Given the description of an element on the screen output the (x, y) to click on. 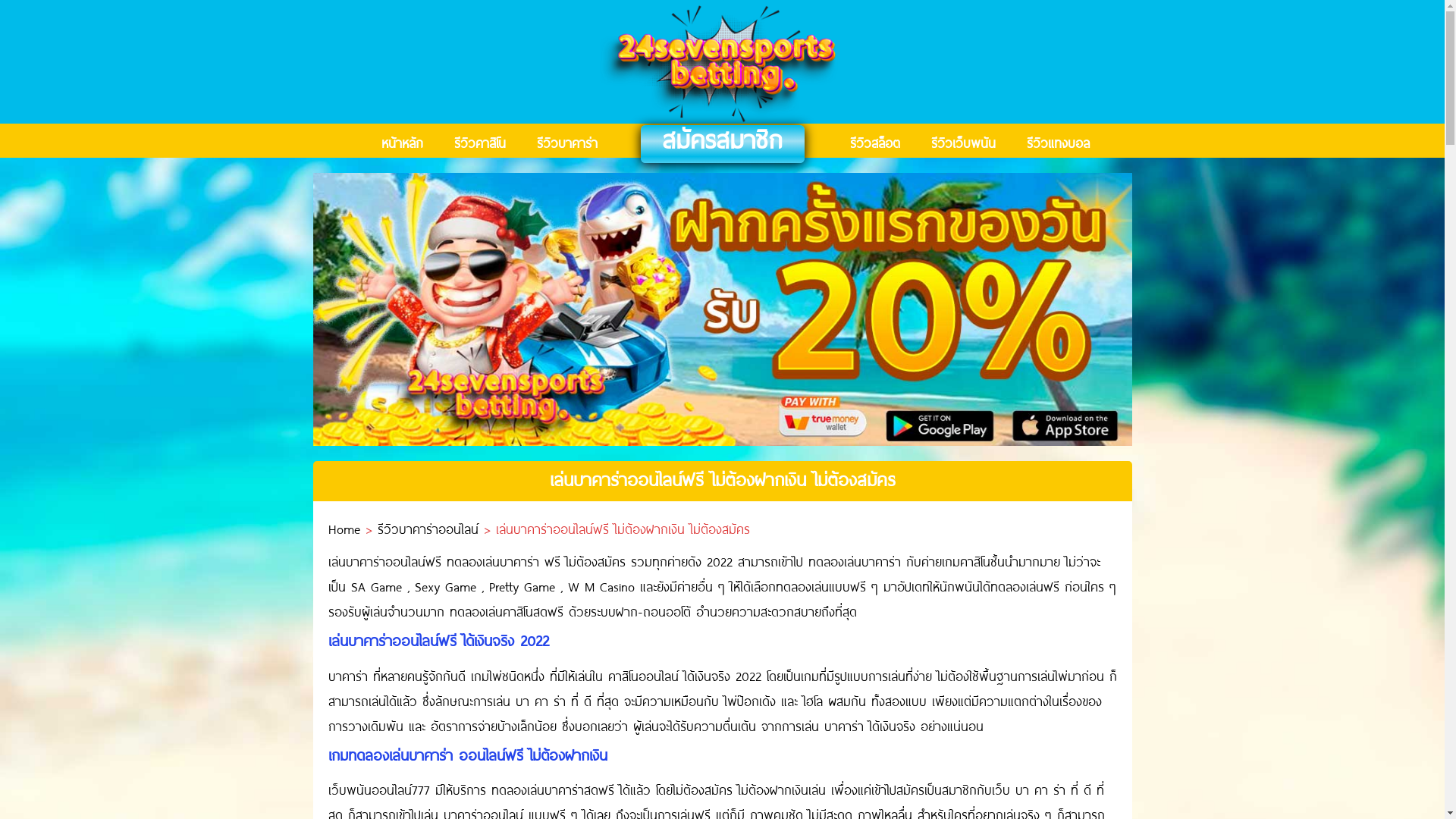
Home Element type: text (343, 528)
